Given the description of an element on the screen output the (x, y) to click on. 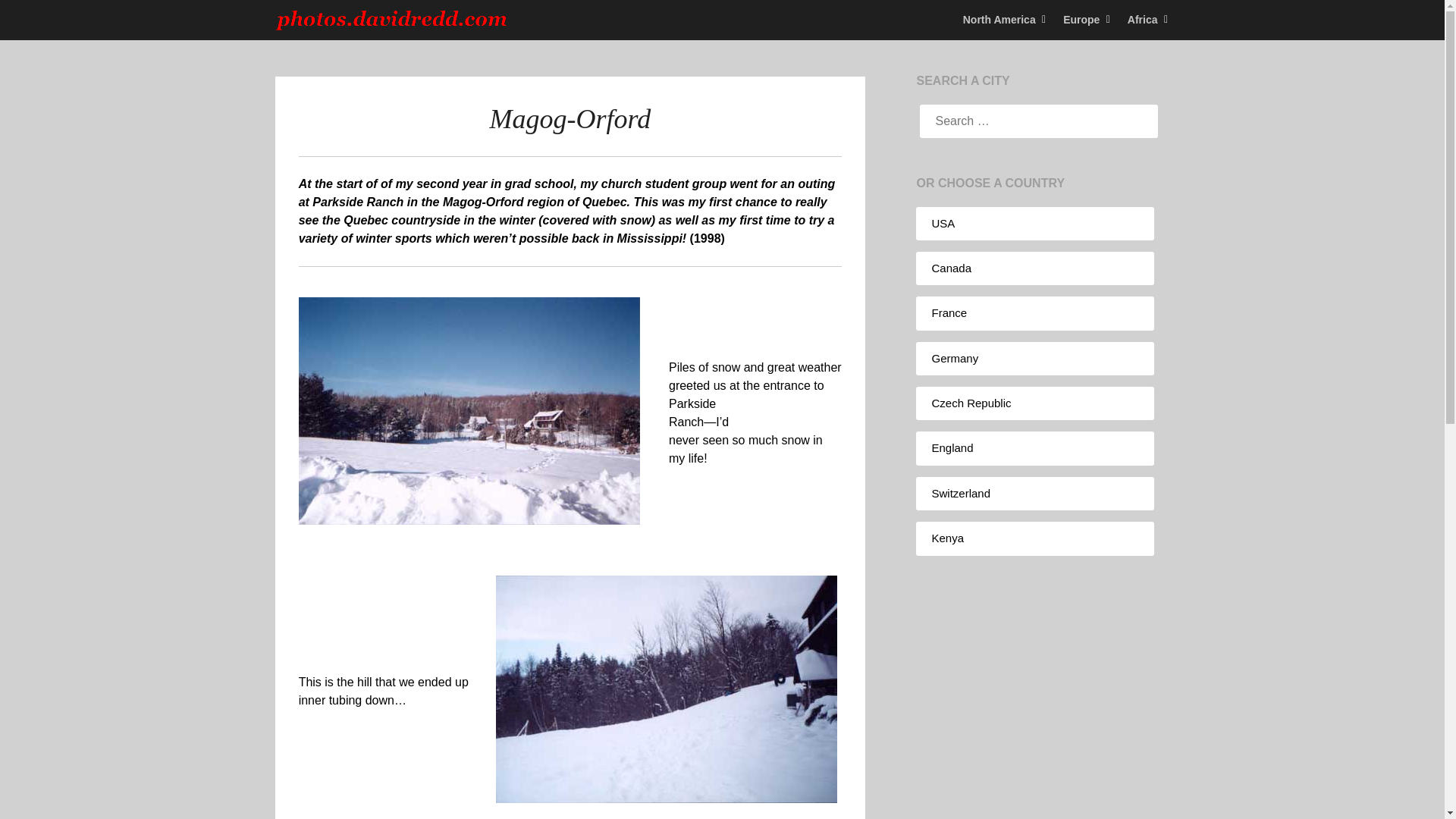
Switzerland (960, 492)
France (948, 312)
Africa (1142, 20)
Kenya (947, 537)
North America (1005, 20)
England (951, 447)
Germany (954, 358)
Czech Republic (970, 402)
Search (38, 22)
Europe (1081, 20)
